Given the description of an element on the screen output the (x, y) to click on. 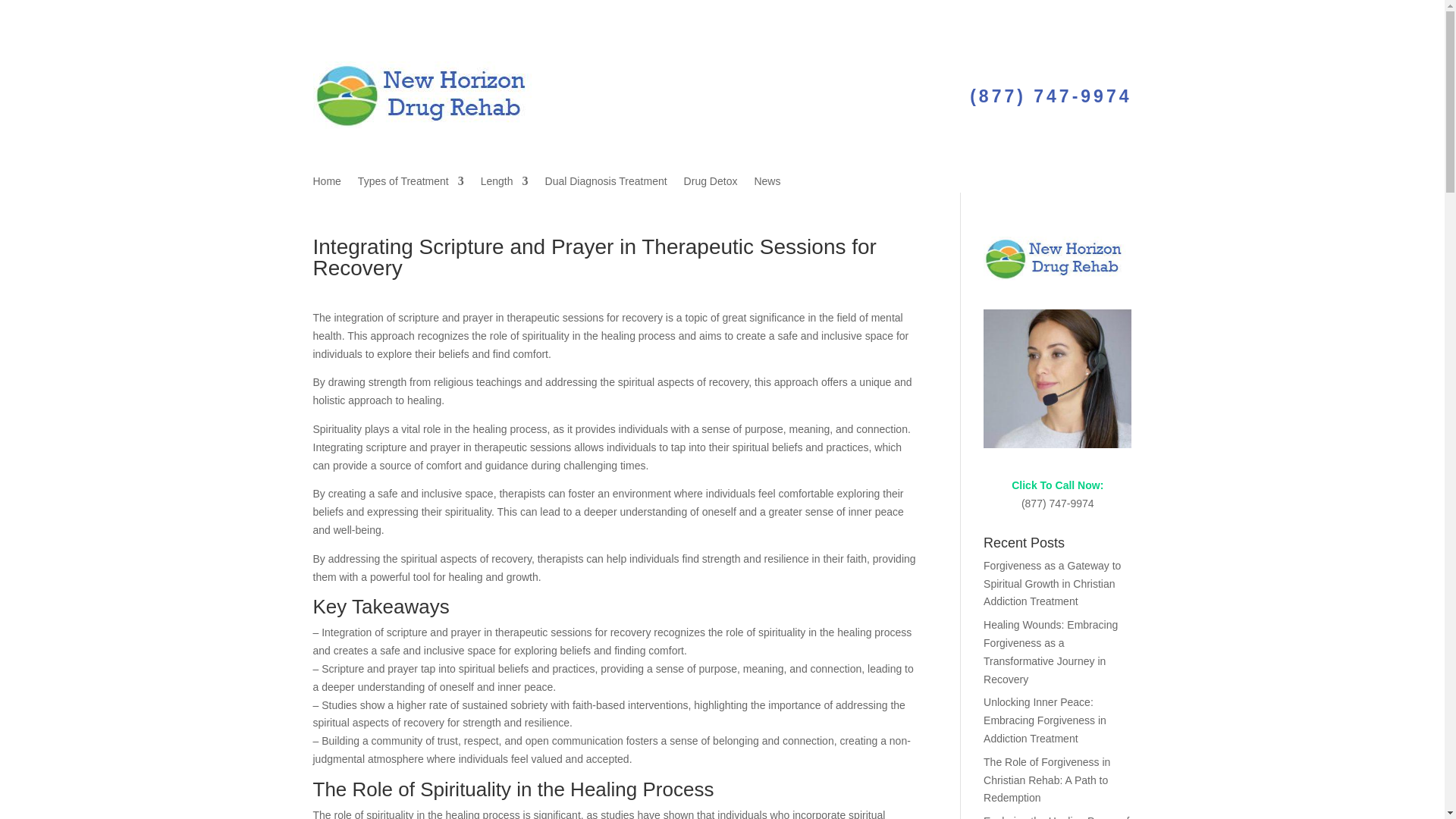
Dual Diagnosis Treatment (605, 184)
Types of Treatment (411, 184)
Home (326, 184)
News (767, 184)
Length (504, 184)
